Given the description of an element on the screen output the (x, y) to click on. 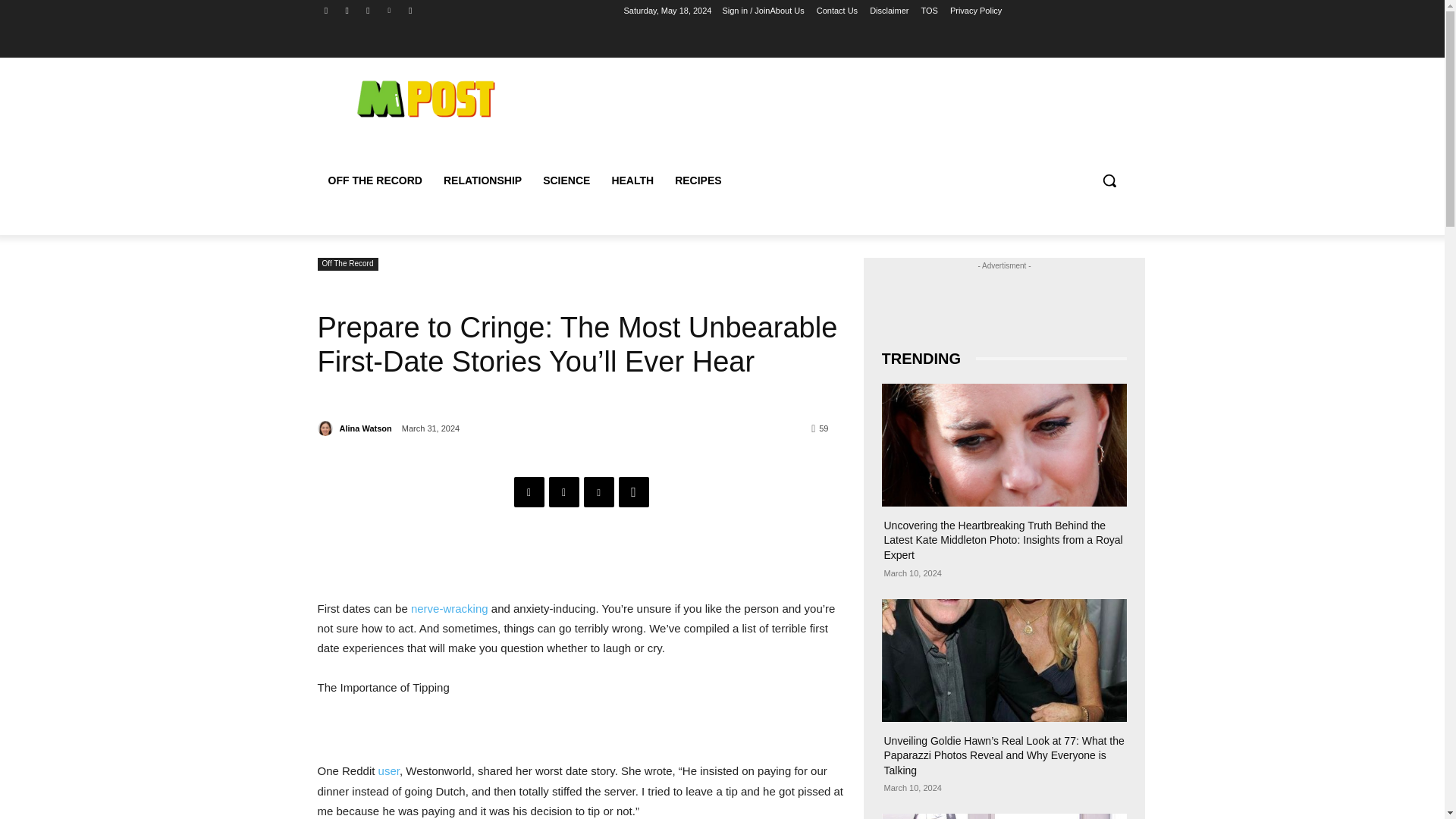
About Us (786, 10)
Alina Watson (365, 427)
Twitter (563, 491)
Instagram (346, 9)
Pinterest (598, 491)
HEALTH (631, 180)
SCIENCE (565, 180)
RELATIONSHIP (482, 180)
RECIPES (697, 180)
Facebook (325, 9)
nerve-wracking (448, 608)
Disclaimer (888, 10)
Off The Record (347, 264)
